Given the description of an element on the screen output the (x, y) to click on. 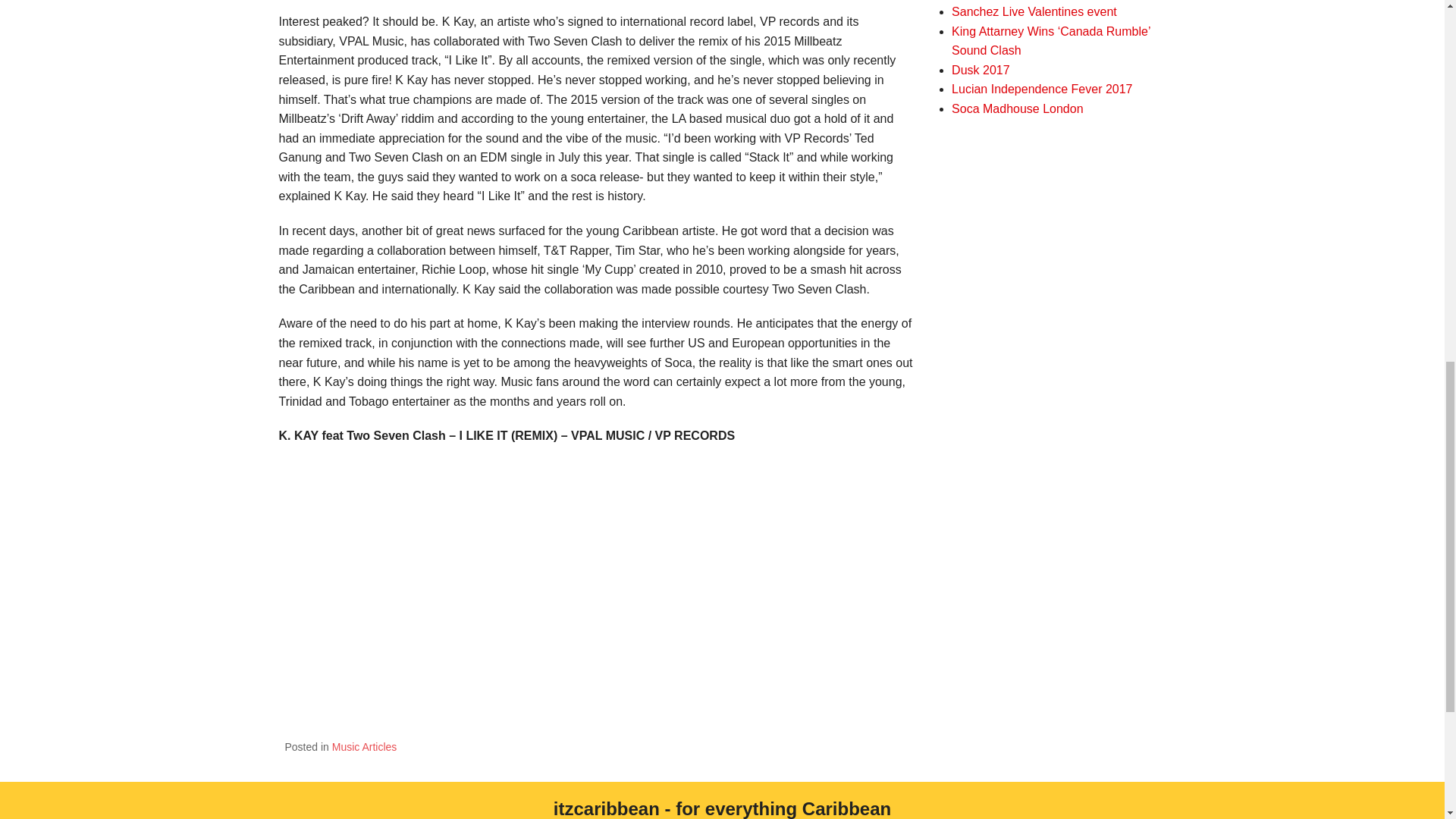
Soca Madhouse London (1017, 108)
Dusk 2017 (981, 69)
Music Articles (364, 746)
Lucian Independence Fever 2017 (1042, 88)
Sanchez Live Valentines event (1034, 11)
